Given the description of an element on the screen output the (x, y) to click on. 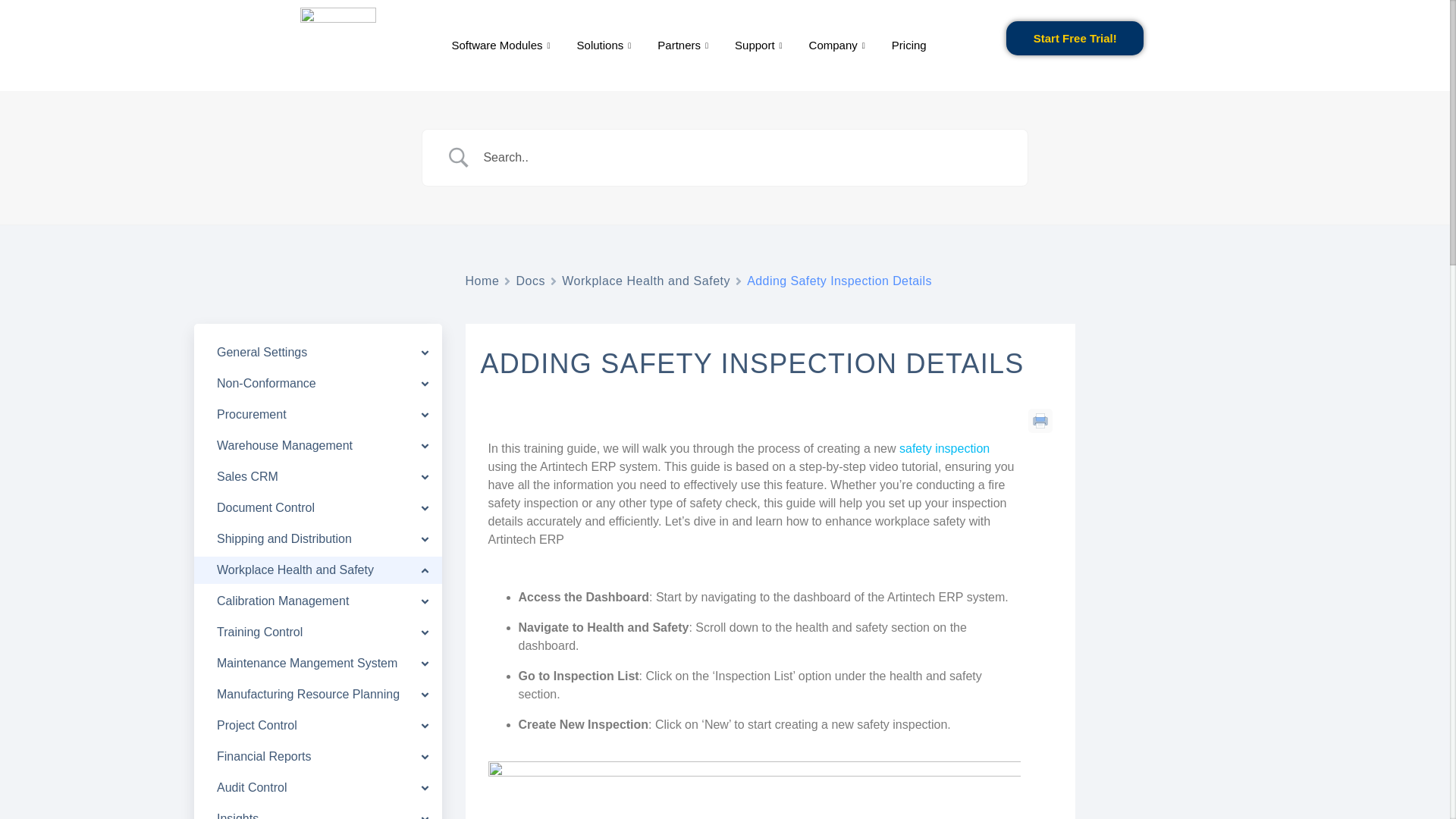
Docs (529, 281)
Workplace Health and Safety (646, 281)
Company (838, 45)
Software Modules (501, 45)
Solutions (606, 45)
Partners (684, 45)
Home (482, 281)
Support (760, 45)
